Given the description of an element on the screen output the (x, y) to click on. 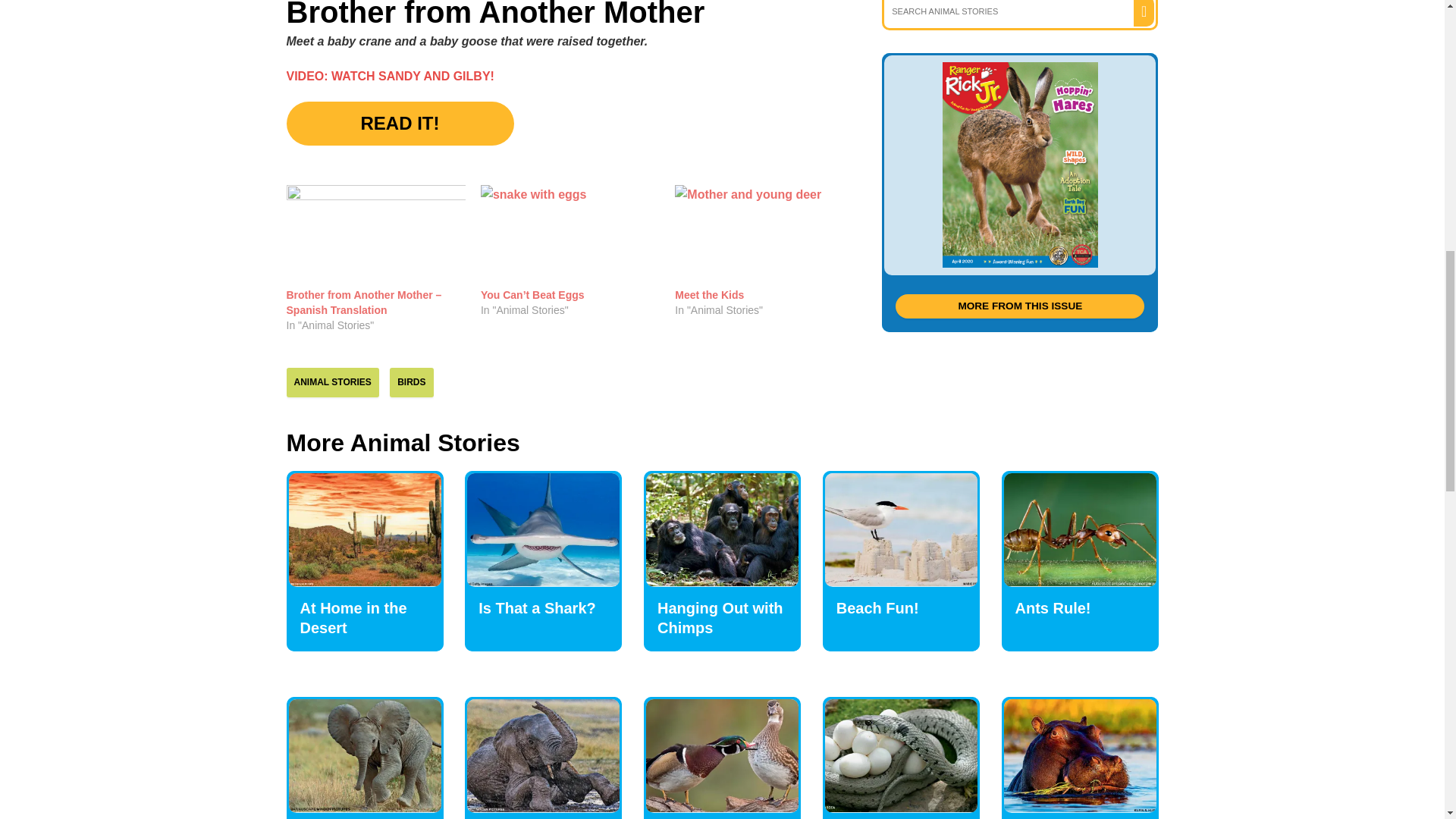
Is That a Shark? (543, 529)
Meet the Kids (709, 295)
READ IT! (399, 123)
Hanging Out with Chimps (721, 529)
ANIMAL STORIES (332, 381)
At Home in the Desert (353, 617)
VIDEO: WATCH SANDY AND GILBY! (390, 75)
Brother from Another Mother (1019, 164)
Hanging Out with Chimps (720, 617)
Is That a Shark? (537, 607)
BIRDS (411, 381)
Meet the Kids (764, 236)
Meet the Kids (709, 295)
At Home in the Desert (364, 529)
